Given the description of an element on the screen output the (x, y) to click on. 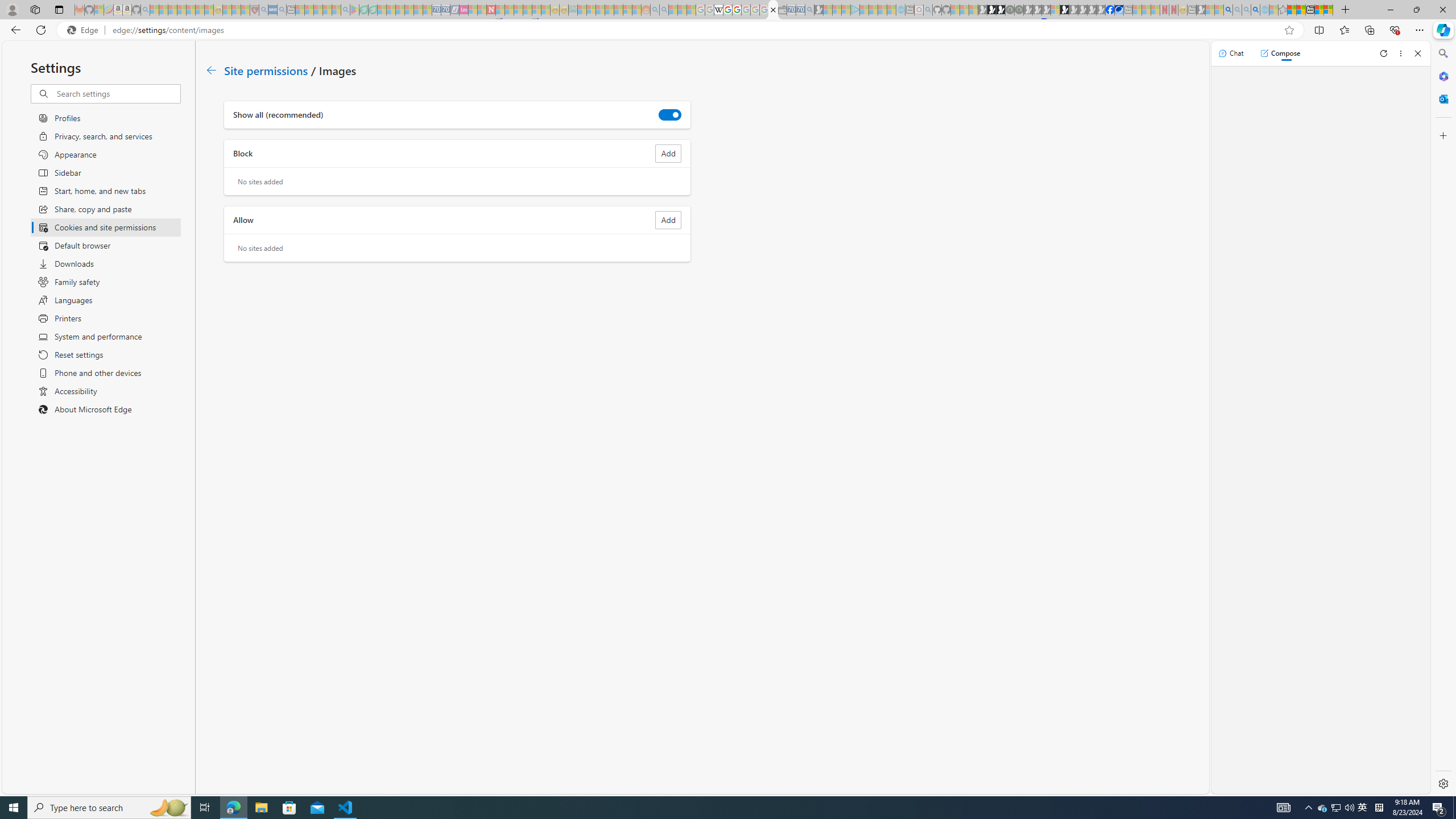
Add site to Block list (668, 153)
Compose (1279, 52)
Aberdeen, Hong Kong SAR weather forecast | Microsoft Weather (1300, 9)
Sign in to your account - Sleeping (1054, 9)
Privacy Help Center - Policies Help (726, 9)
